Given the description of an element on the screen output the (x, y) to click on. 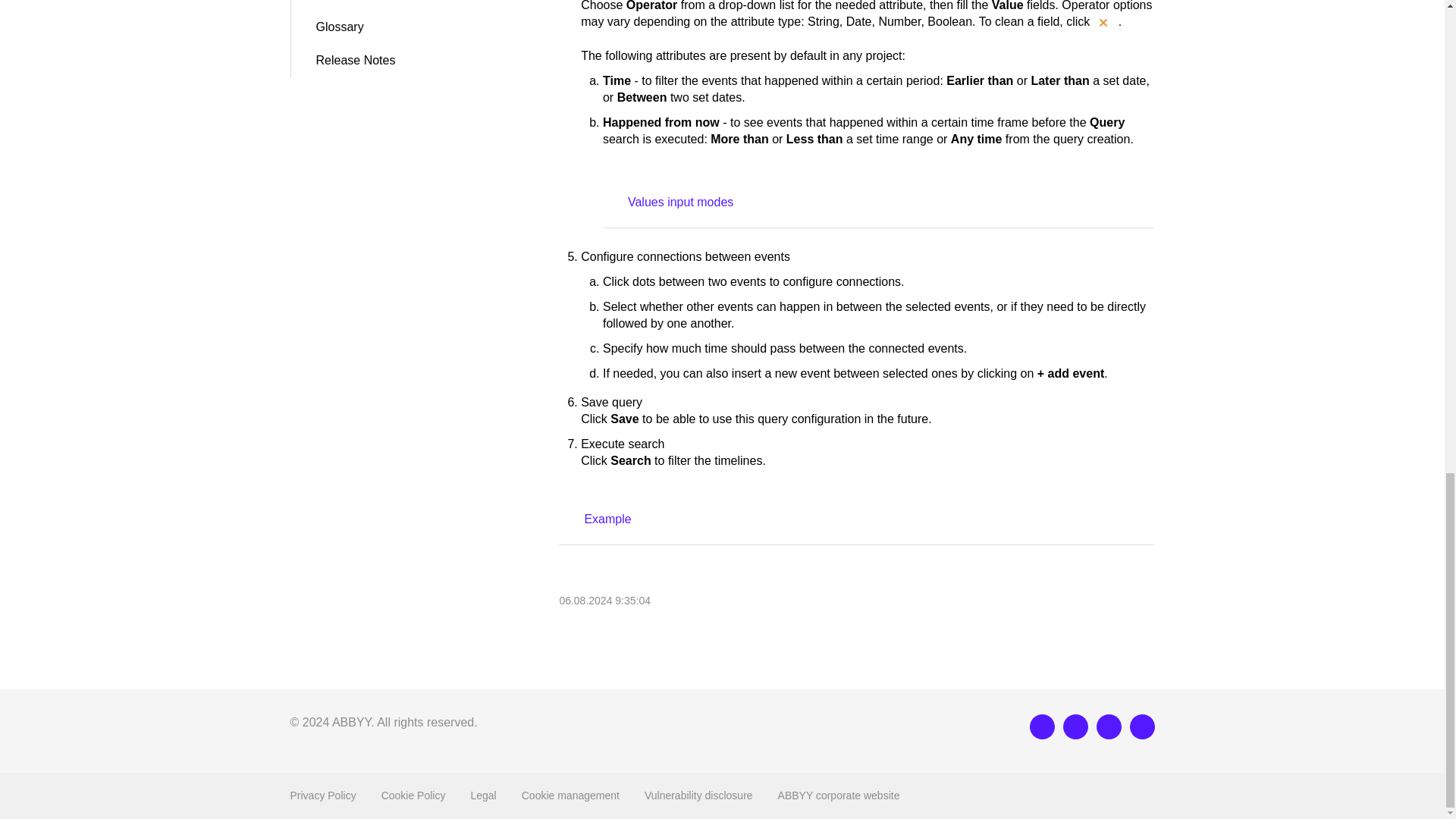
Cookie management (570, 795)
Facebook (1074, 726)
LinkedIn (1041, 726)
Privacy (322, 795)
Twitter (1108, 726)
Legal (483, 795)
Youtube (1141, 726)
